Given the description of an element on the screen output the (x, y) to click on. 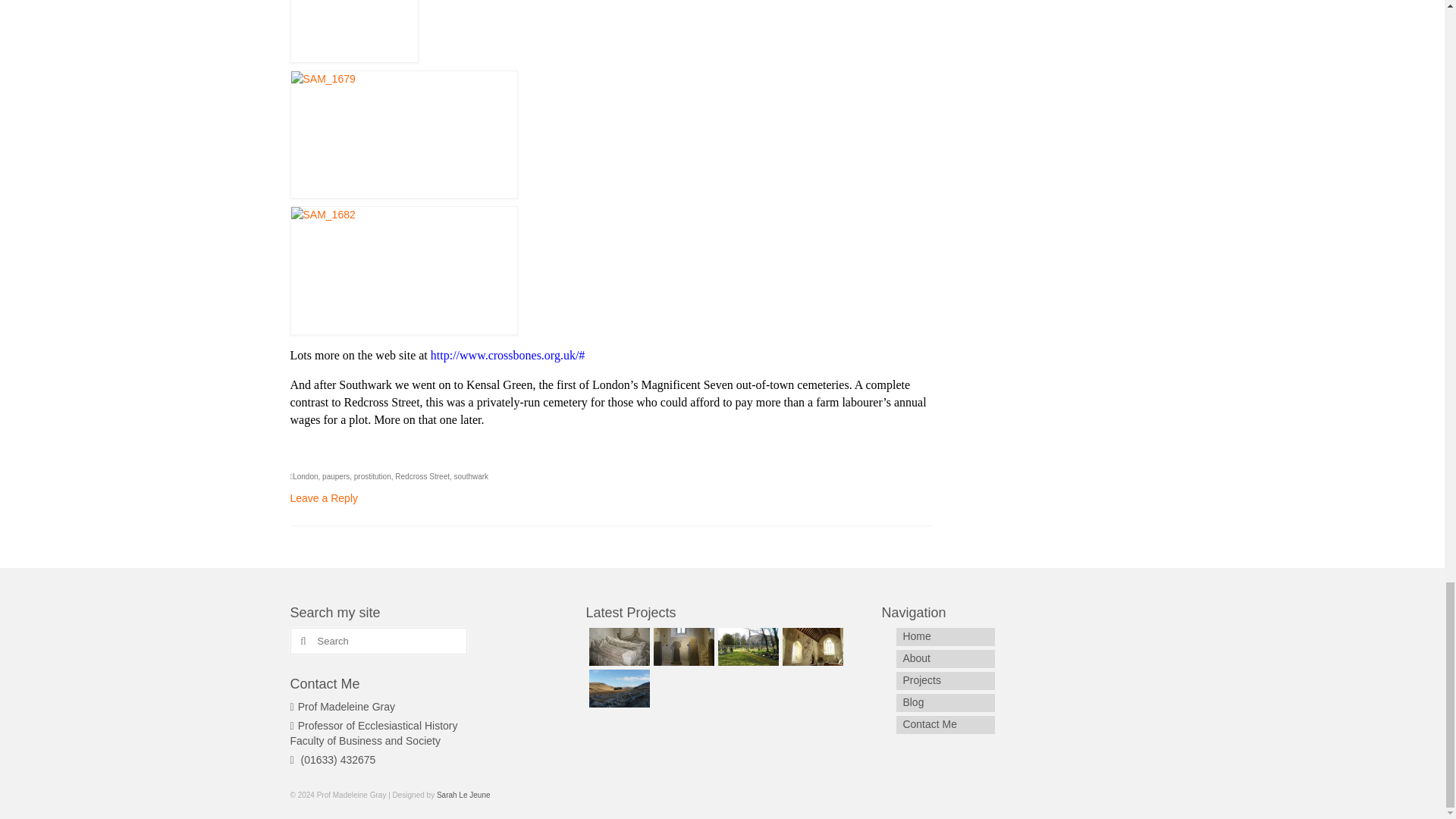
Llancarfan Wall Paintings (810, 646)
Llanilltud and the Pilgrimage Trail (681, 646)
southwark (471, 476)
The Cistercian Way (617, 688)
paupers (335, 476)
Redcross Street (421, 476)
Leave a Reply (323, 498)
London (304, 476)
Death and Memory (617, 646)
Laleston Stones Trail (746, 646)
prostitution (372, 476)
